Given the description of an element on the screen output the (x, y) to click on. 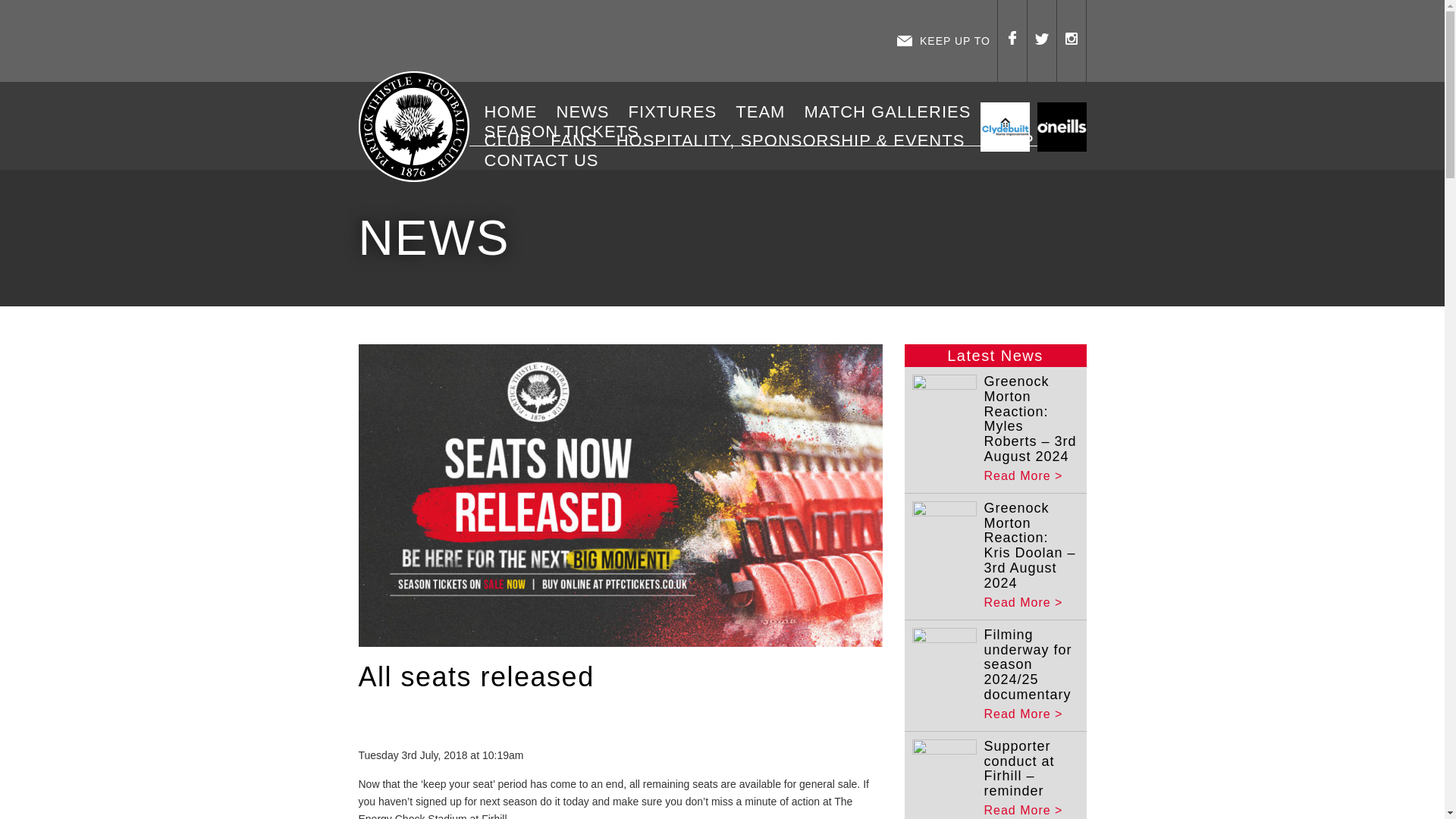
MATCH GALLERIES (892, 112)
SEASON TICKETS (566, 131)
HOME (516, 112)
Enter the JAGZONE (623, 40)
NEWS (587, 112)
FIXTURES (678, 112)
CONTACT US (547, 160)
TEAM (765, 112)
CLUB (513, 140)
SHOP (1013, 140)
KEEP UP TO DATE (943, 40)
FANS (579, 140)
